Given the description of an element on the screen output the (x, y) to click on. 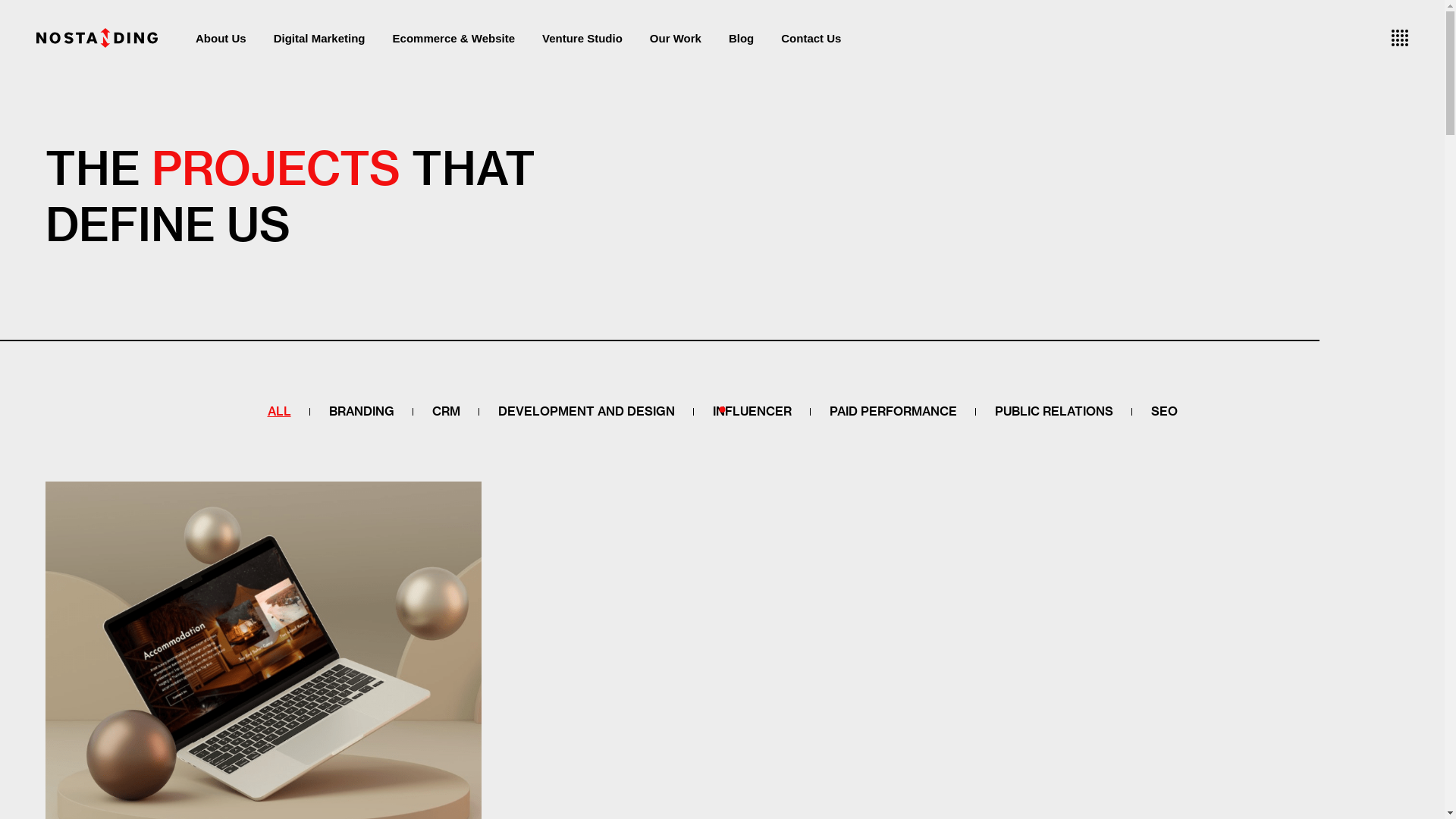
DEVELOPMENT AND DESIGN Element type: text (586, 410)
Venture Studio Element type: text (582, 37)
Our Work Element type: text (675, 37)
CRM Element type: text (445, 410)
INFLUENCER Element type: text (751, 410)
Ecommerce & Website Element type: text (453, 37)
Blog Element type: text (740, 37)
Digital Marketing Element type: text (319, 37)
About Us Element type: text (220, 37)
SEO Element type: text (1163, 410)
BRANDING Element type: text (360, 410)
PAID PERFORMANCE Element type: text (892, 410)
PUBLIC RELATIONS Element type: text (1053, 410)
ALL Element type: text (279, 410)
Contact Us Element type: text (810, 37)
